Given the description of an element on the screen output the (x, y) to click on. 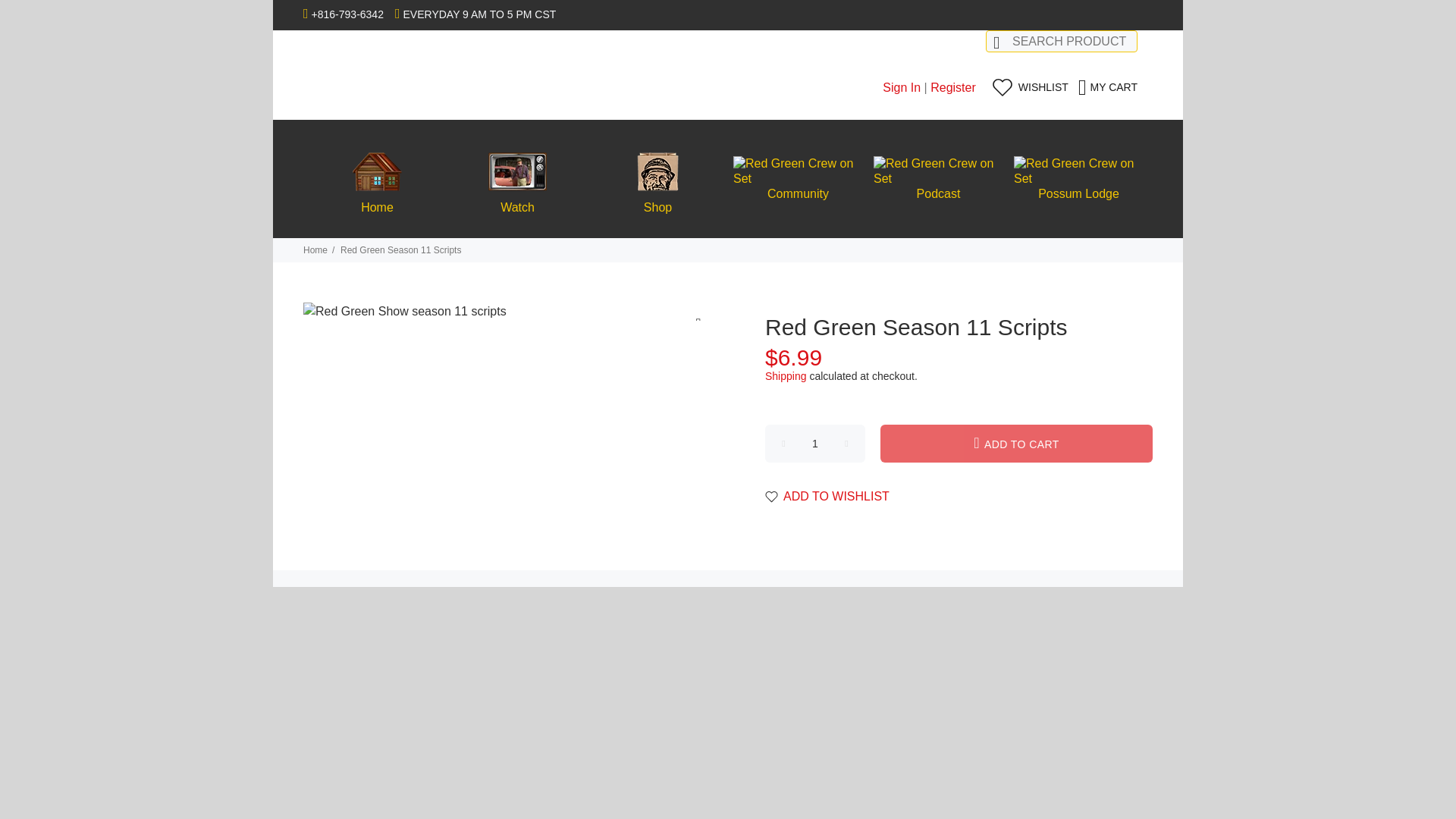
Community (798, 178)
Home (377, 178)
1 (814, 443)
Watch (517, 178)
Shop (657, 178)
